Given the description of an element on the screen output the (x, y) to click on. 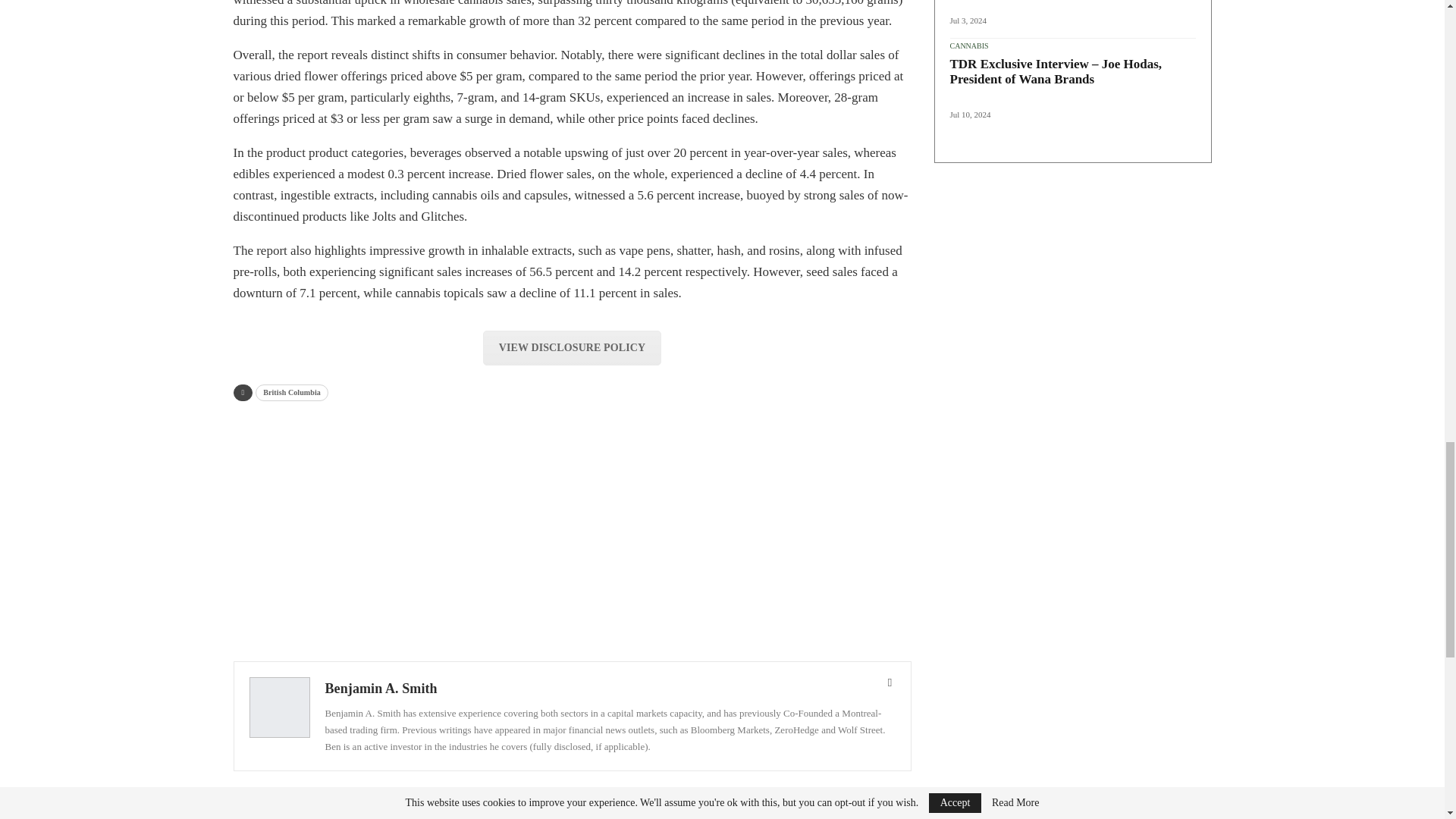
VIEW DISCLOSURE POLICY (572, 346)
British Columbia (292, 392)
VIEW DISCLOSURE POLICY (572, 347)
